Given the description of an element on the screen output the (x, y) to click on. 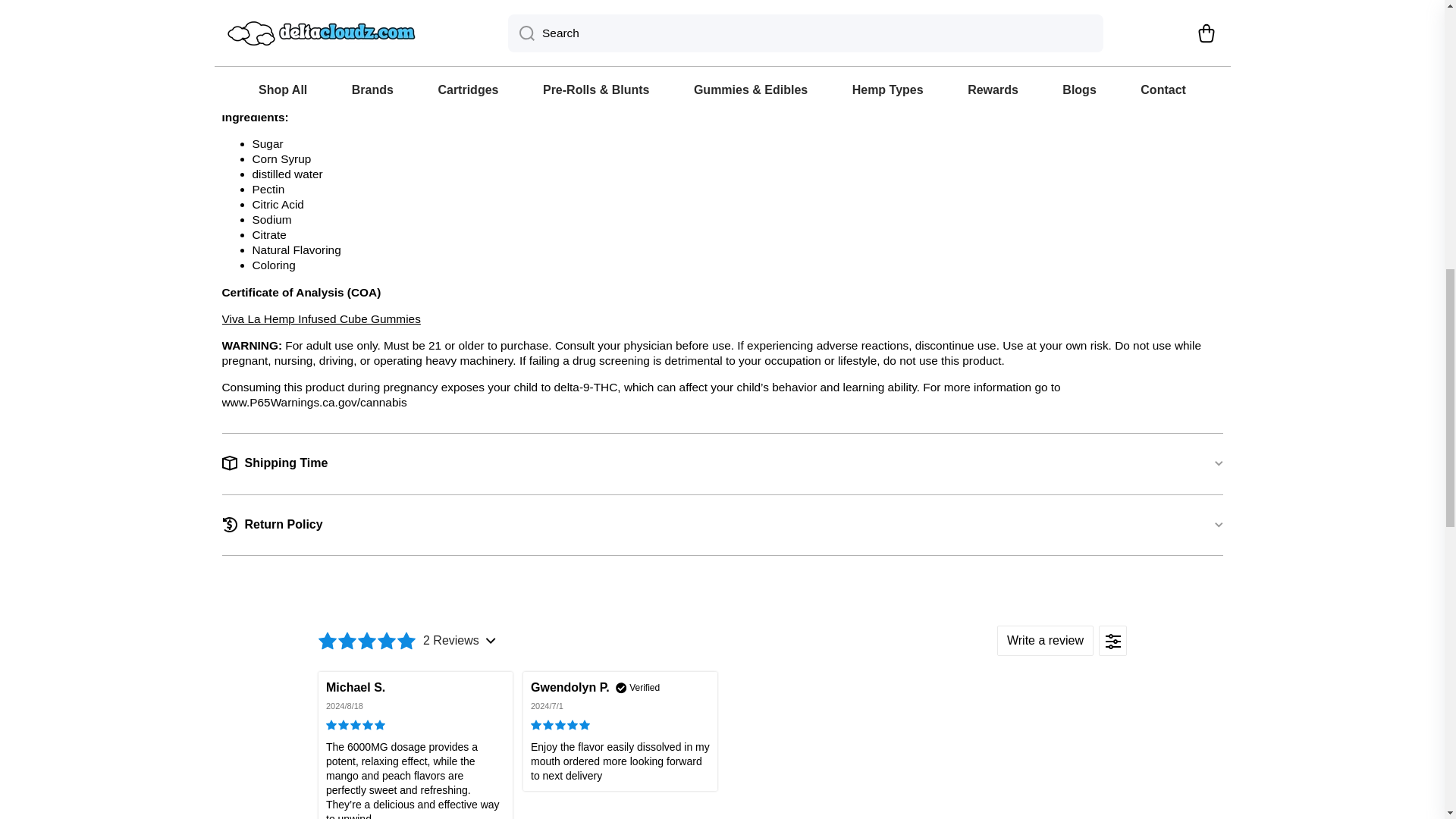
Viva La Hemp (323, 21)
Viva la Hemp Gummies COA (320, 318)
Delta-9 Gummies Collection (460, 90)
Delta-8 Gummies Collection (409, 90)
THC-A  Collection (359, 90)
